Given the description of an element on the screen output the (x, y) to click on. 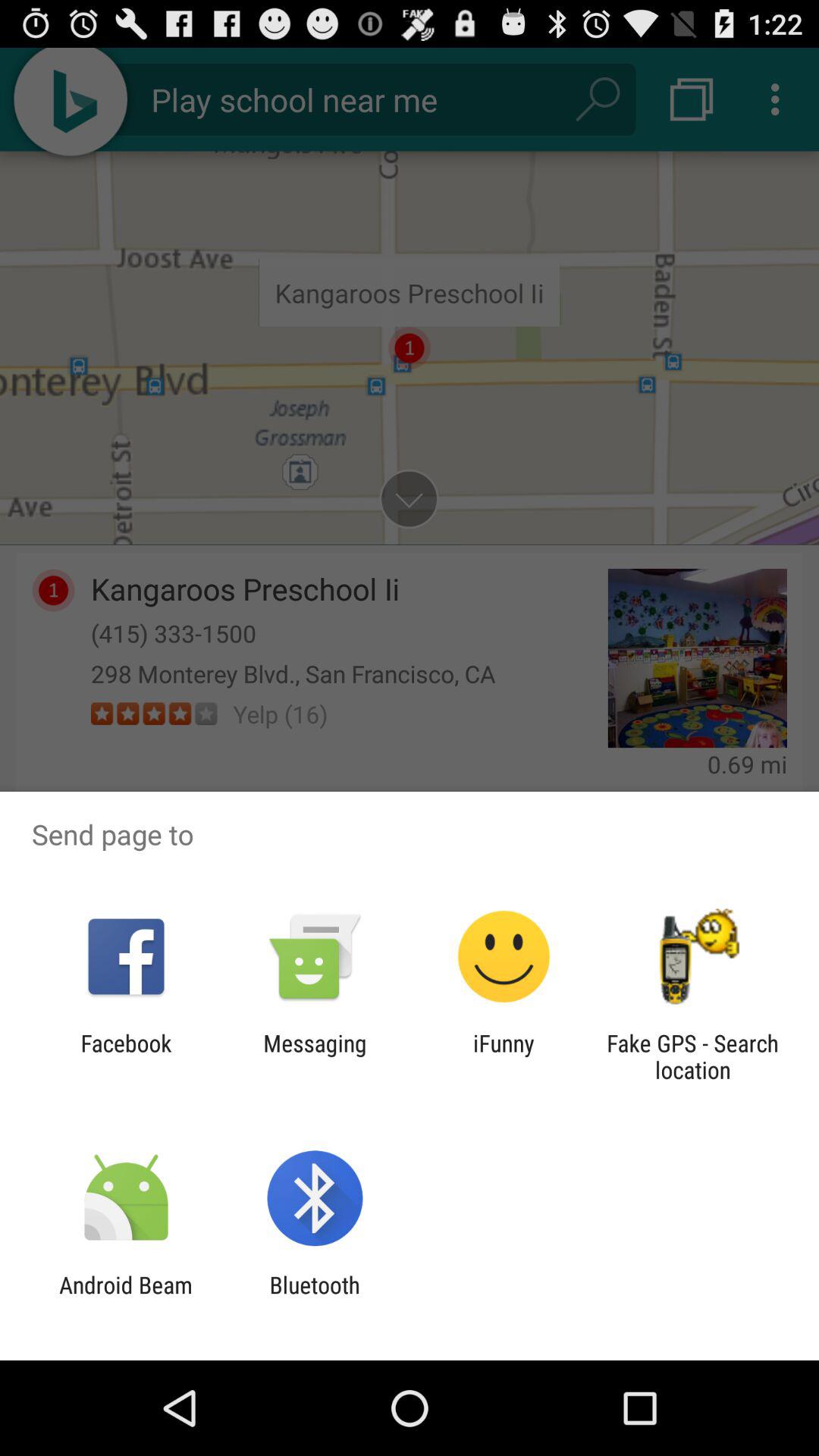
press ifunny item (503, 1056)
